Given the description of an element on the screen output the (x, y) to click on. 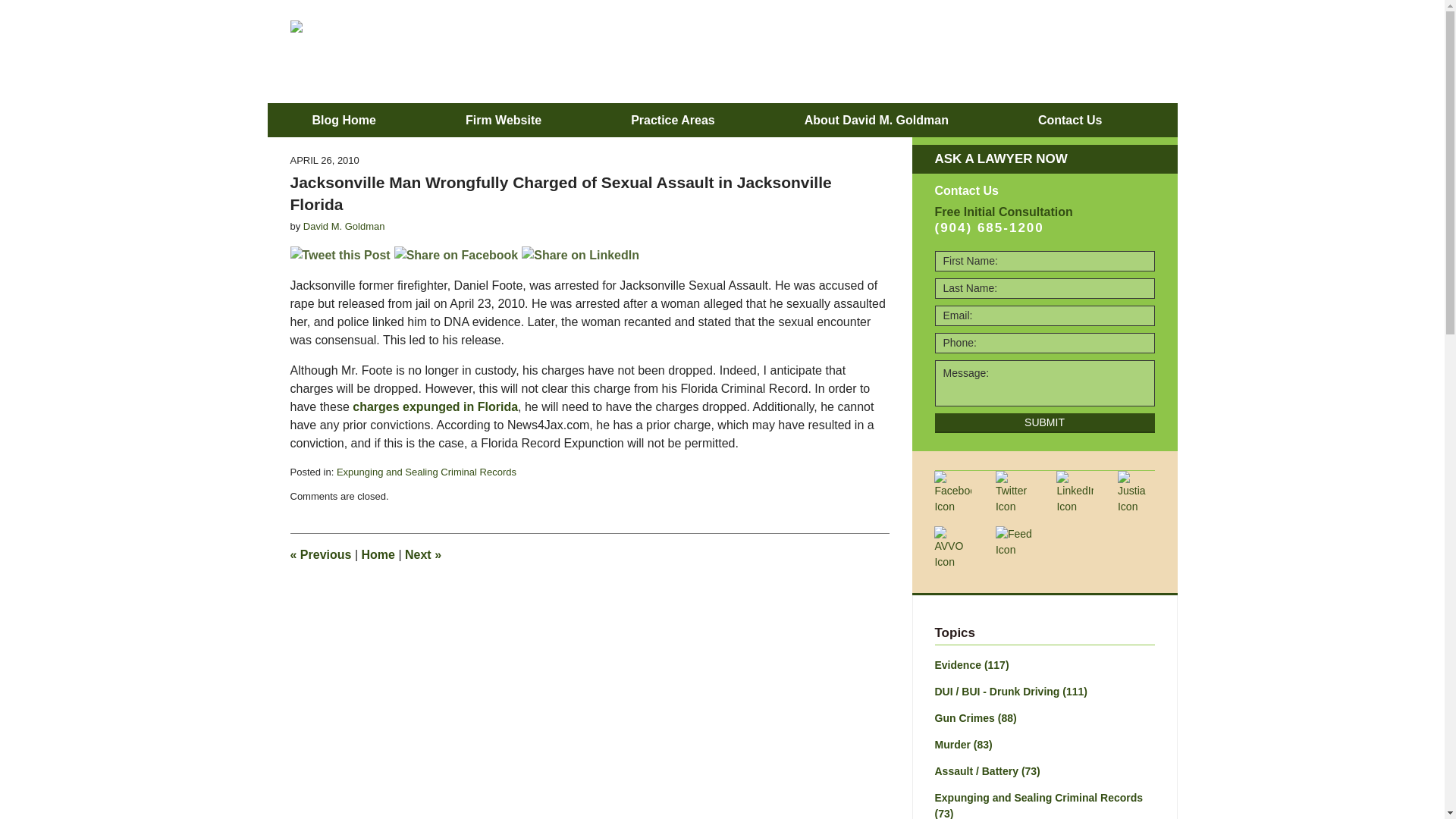
About David M. Goldman (876, 120)
Published By Law Office of David M. Goldman PLLC (1055, 48)
Filing a Jacksonville False Police Report is a Crime (422, 554)
LinkedIn (1075, 492)
Please enter a valid phone number. (1044, 342)
Blog Home (343, 120)
AVVO (952, 548)
Jacksonville Criminal Defense Lawyer Blog (470, 50)
View all posts in Expunging and Sealing Criminal Records (426, 471)
Feed (1014, 541)
